Given the description of an element on the screen output the (x, y) to click on. 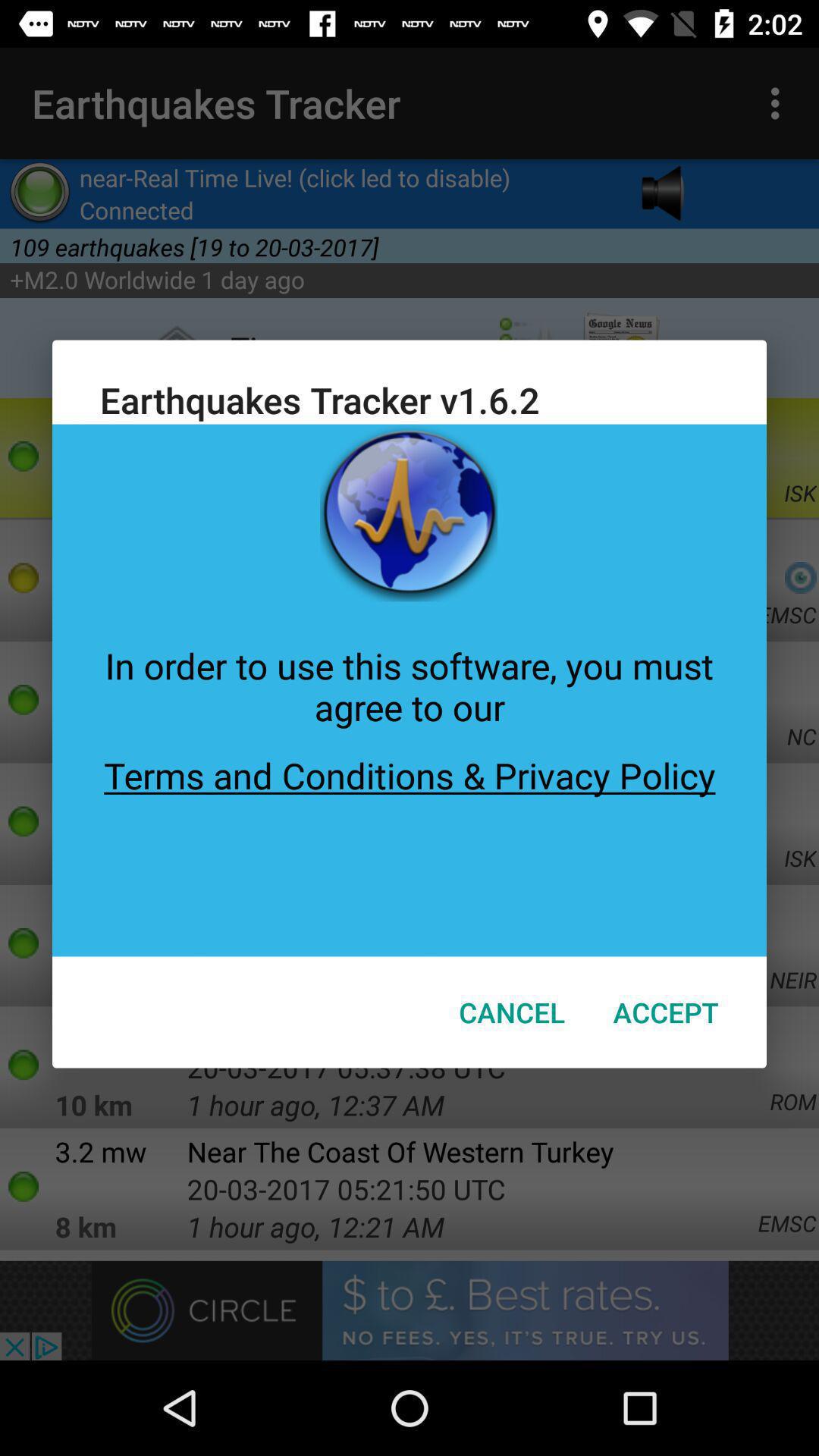
select accept icon (665, 1012)
